Given the description of an element on the screen output the (x, y) to click on. 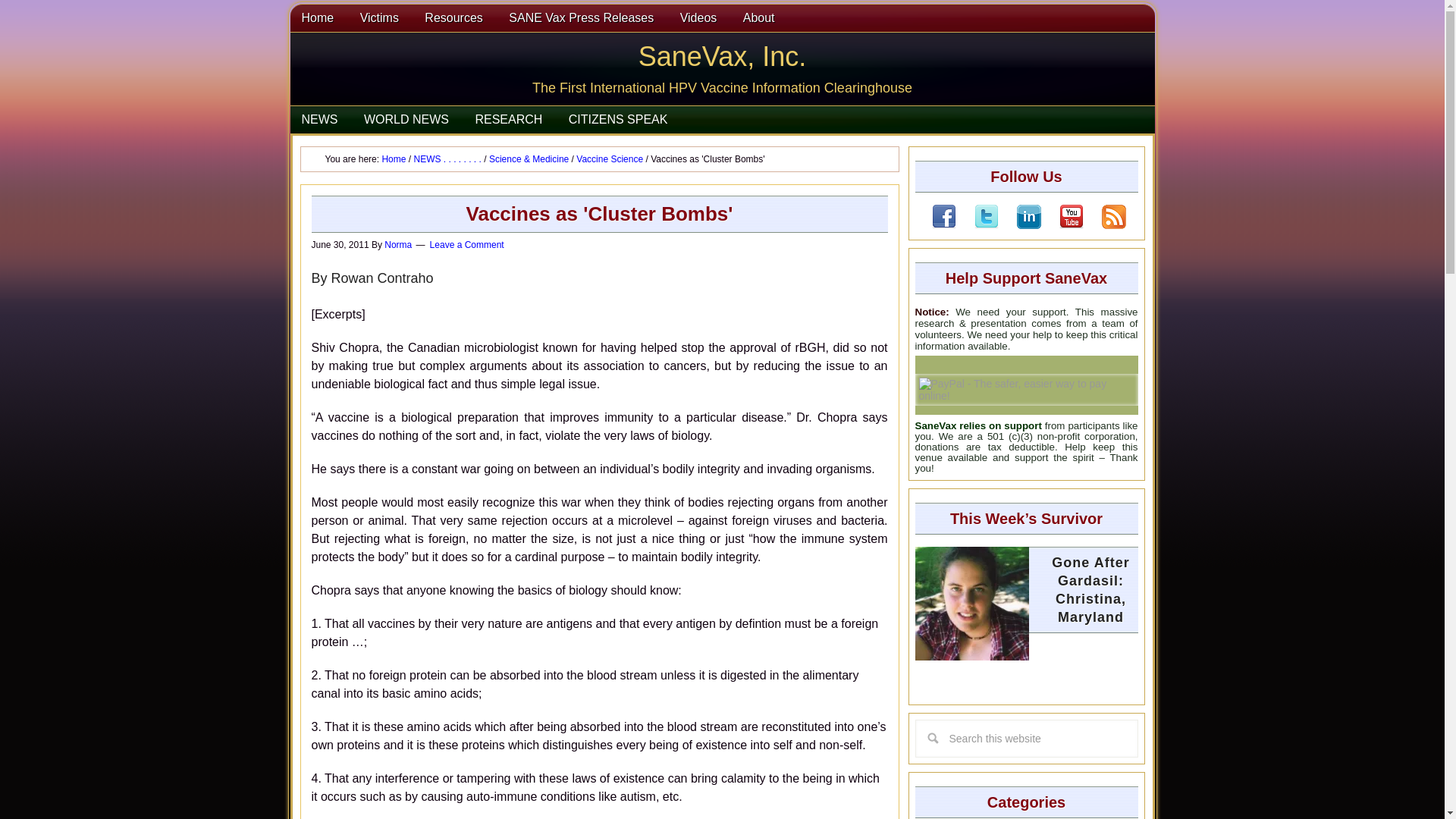
SaneVax on Facebook (943, 216)
Resources (453, 17)
SaneVax on Youtube (1070, 216)
SaneVax on Facebook (943, 224)
Home (317, 17)
SaneVax on LinkedIn (1019, 224)
SaneVax on Twitter (985, 216)
SaneVax on Youtube (1062, 224)
SaneVax on RSS Feeds (1104, 224)
